Given the description of an element on the screen output the (x, y) to click on. 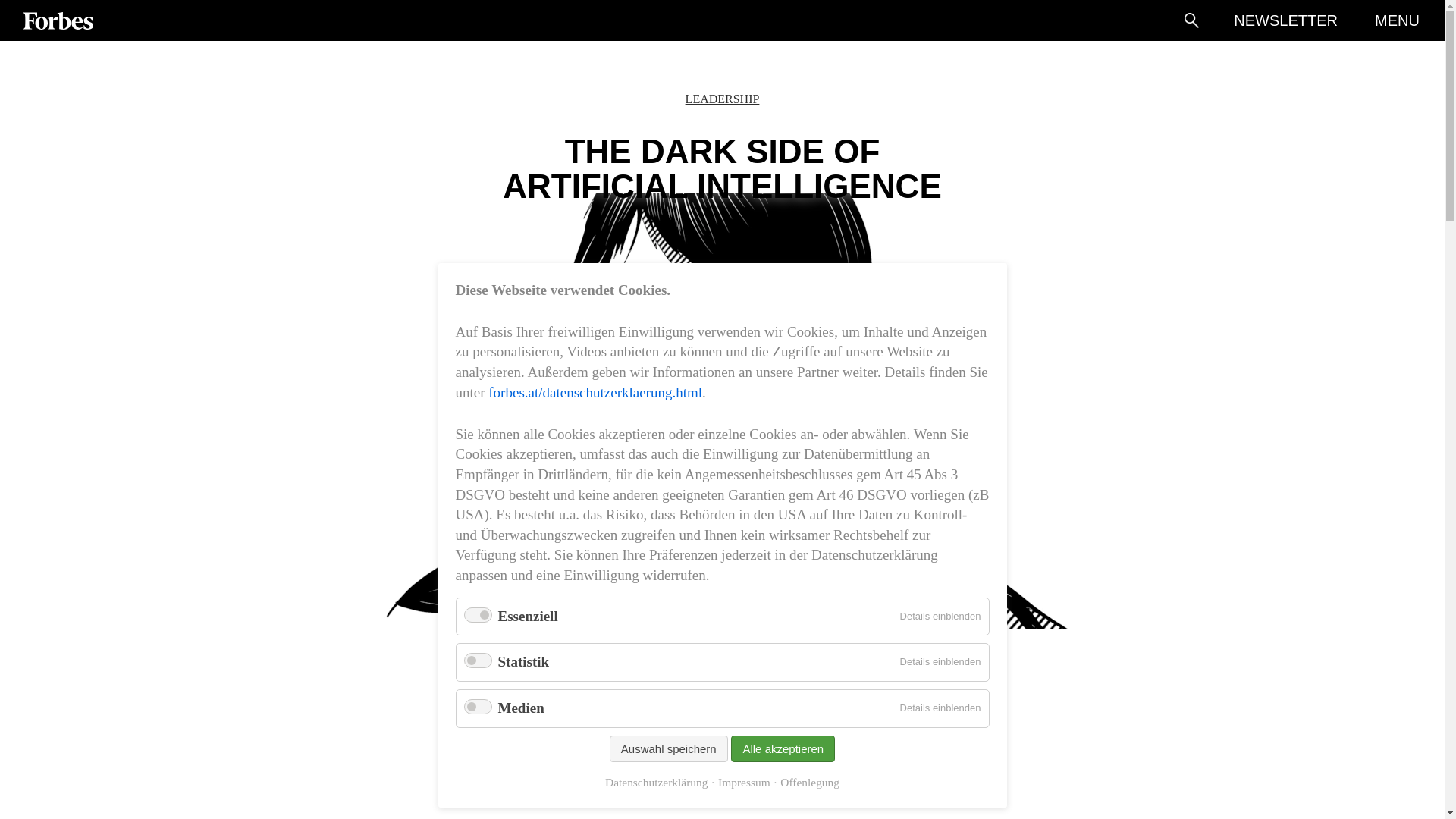
NEWSLETTER (1285, 20)
Newsletter (1285, 20)
Suche (1190, 20)
LEADERSHIP (722, 98)
